Given the description of an element on the screen output the (x, y) to click on. 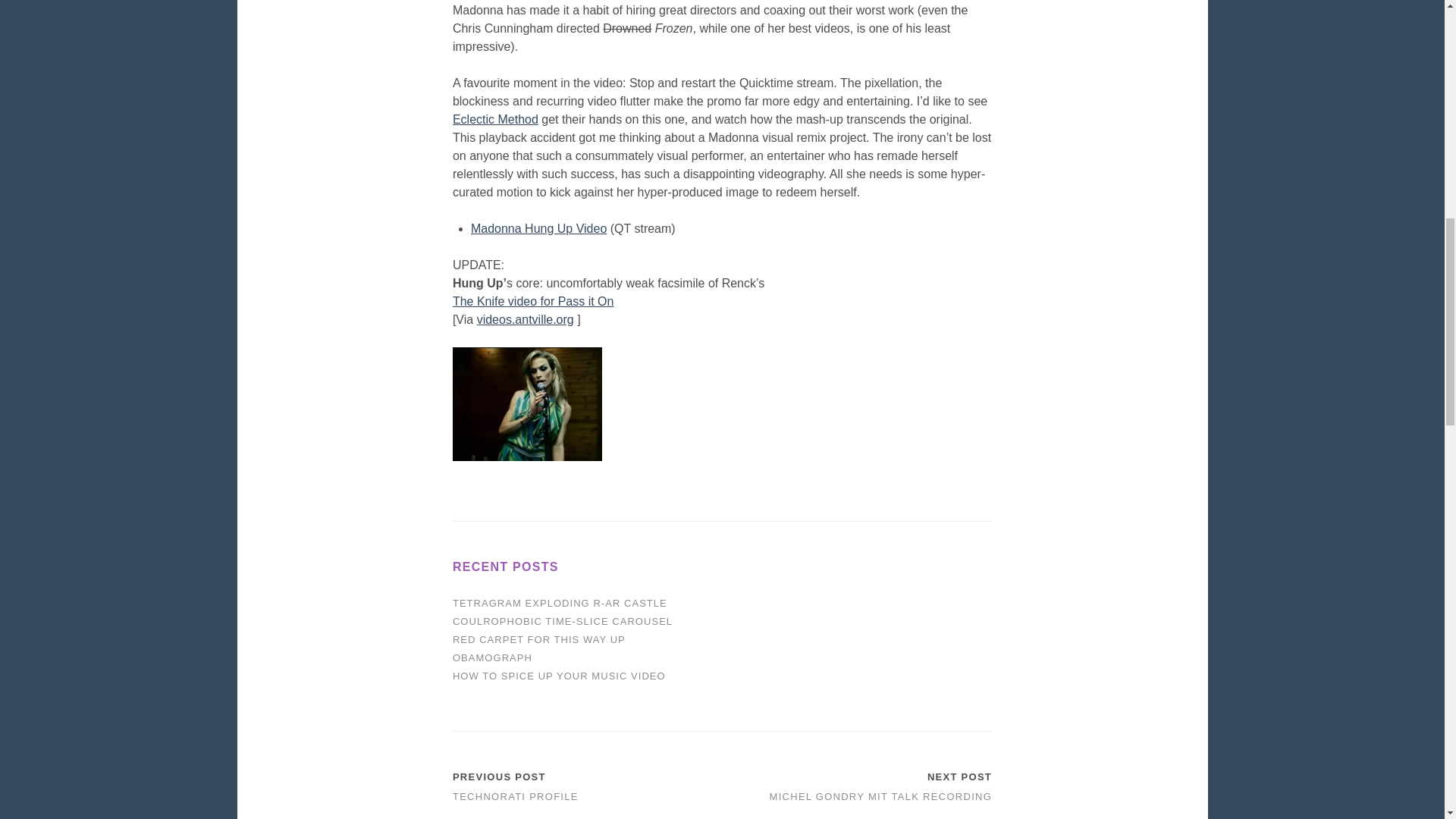
MICHEL GONDRY MIT TALK RECORDING (881, 796)
videos.antville.org (525, 318)
TECHNORATI PROFILE (515, 796)
Eclectic Method VJs (495, 119)
The Knife video for Pass it On (533, 300)
OBAMOGRAPH (492, 657)
johanrencktheknifepassiton 01 (527, 404)
TETRAGRAM EXPLODING R-AR CASTLE (559, 603)
RED CARPET FOR THIS WAY UP (539, 639)
Madonna Hung Up Video (538, 228)
